Given the description of an element on the screen output the (x, y) to click on. 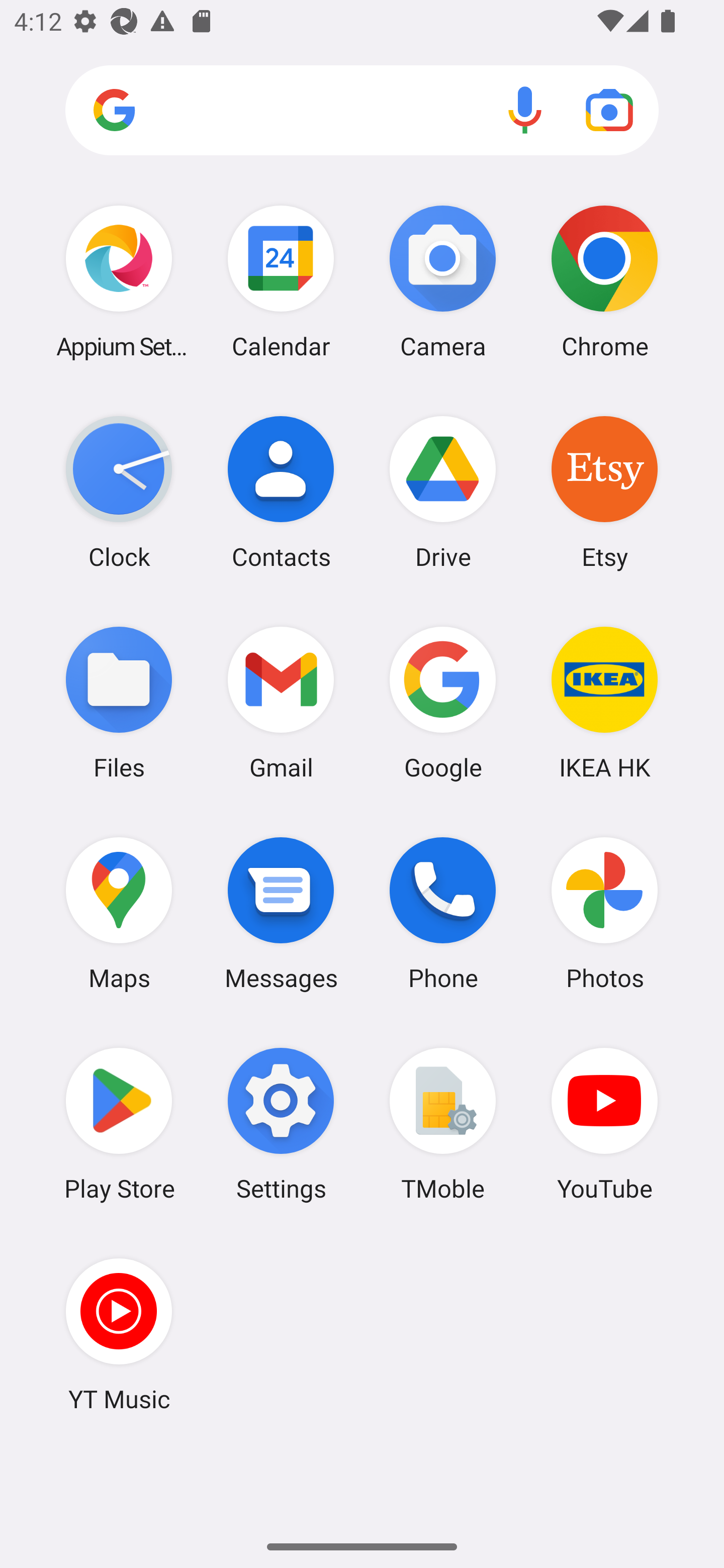
Search apps, web and more (361, 110)
Voice search (524, 109)
Google Lens (608, 109)
Appium Settings (118, 281)
Calendar (280, 281)
Camera (443, 281)
Chrome (604, 281)
Clock (118, 492)
Contacts (280, 492)
Drive (443, 492)
Etsy (604, 492)
Files (118, 702)
Gmail (280, 702)
Google (443, 702)
IKEA HK (604, 702)
Maps (118, 913)
Messages (280, 913)
Phone (443, 913)
Photos (604, 913)
Play Store (118, 1124)
Settings (280, 1124)
TMoble (443, 1124)
YouTube (604, 1124)
YT Music (118, 1334)
